Given the description of an element on the screen output the (x, y) to click on. 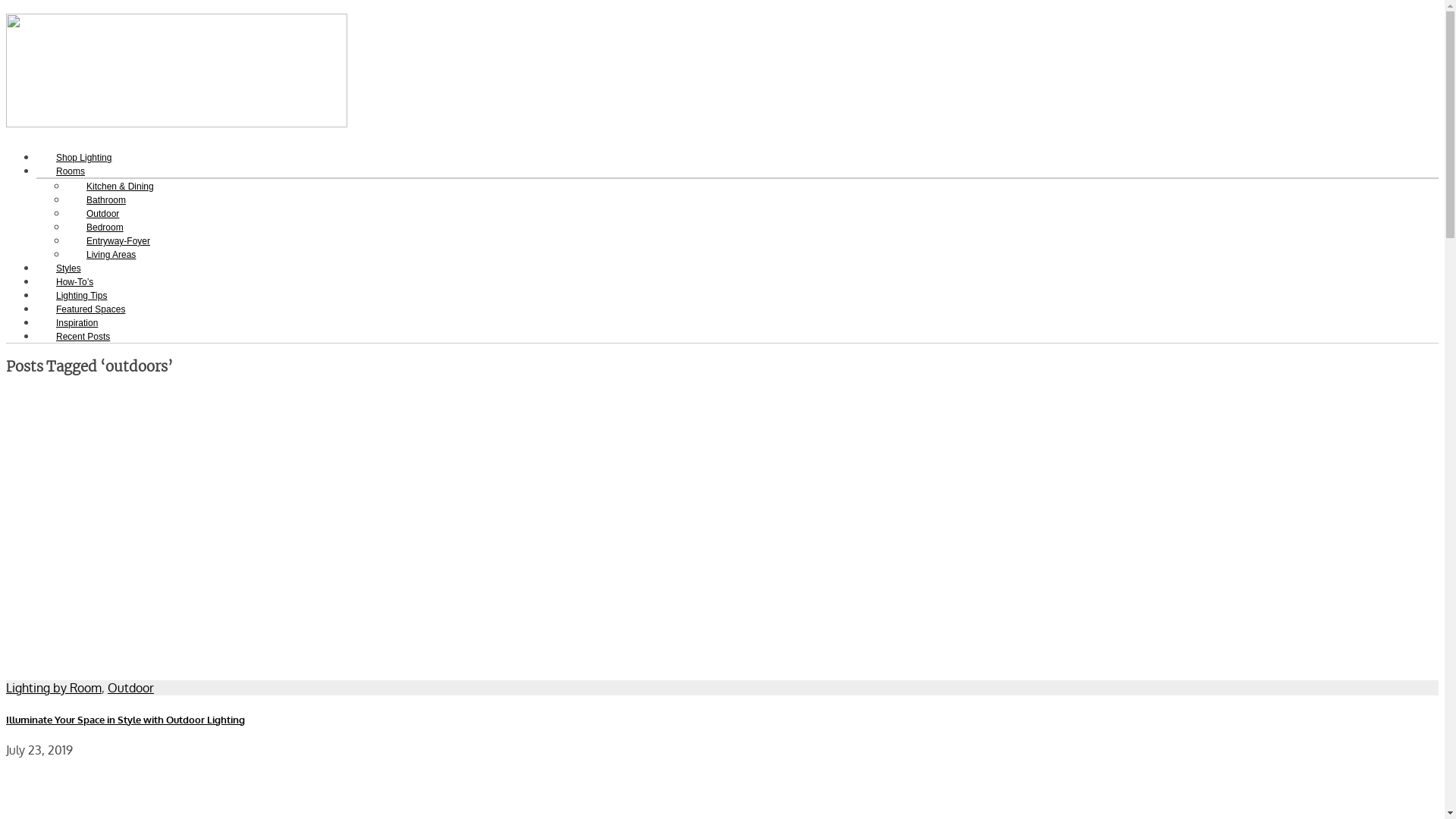
Kitchen & Dining Element type: text (119, 186)
Inspiration Element type: text (76, 323)
Featured Spaces Element type: text (90, 309)
Bedroom Element type: text (104, 227)
Shop Lighting Element type: text (83, 157)
Entryway-Foyer Element type: text (117, 241)
Lighting by Room Element type: text (53, 687)
Outdoor Element type: text (130, 687)
Recent Posts Element type: text (82, 336)
Styles Element type: text (68, 268)
Bathroom Element type: text (105, 200)
Illuminate Your Space in Style with Outdoor Lighting Element type: text (125, 718)
Rooms Element type: text (70, 171)
Lighting Tips Element type: text (81, 295)
Living Areas Element type: text (110, 254)
Outdoor Element type: text (102, 213)
